Given the description of an element on the screen output the (x, y) to click on. 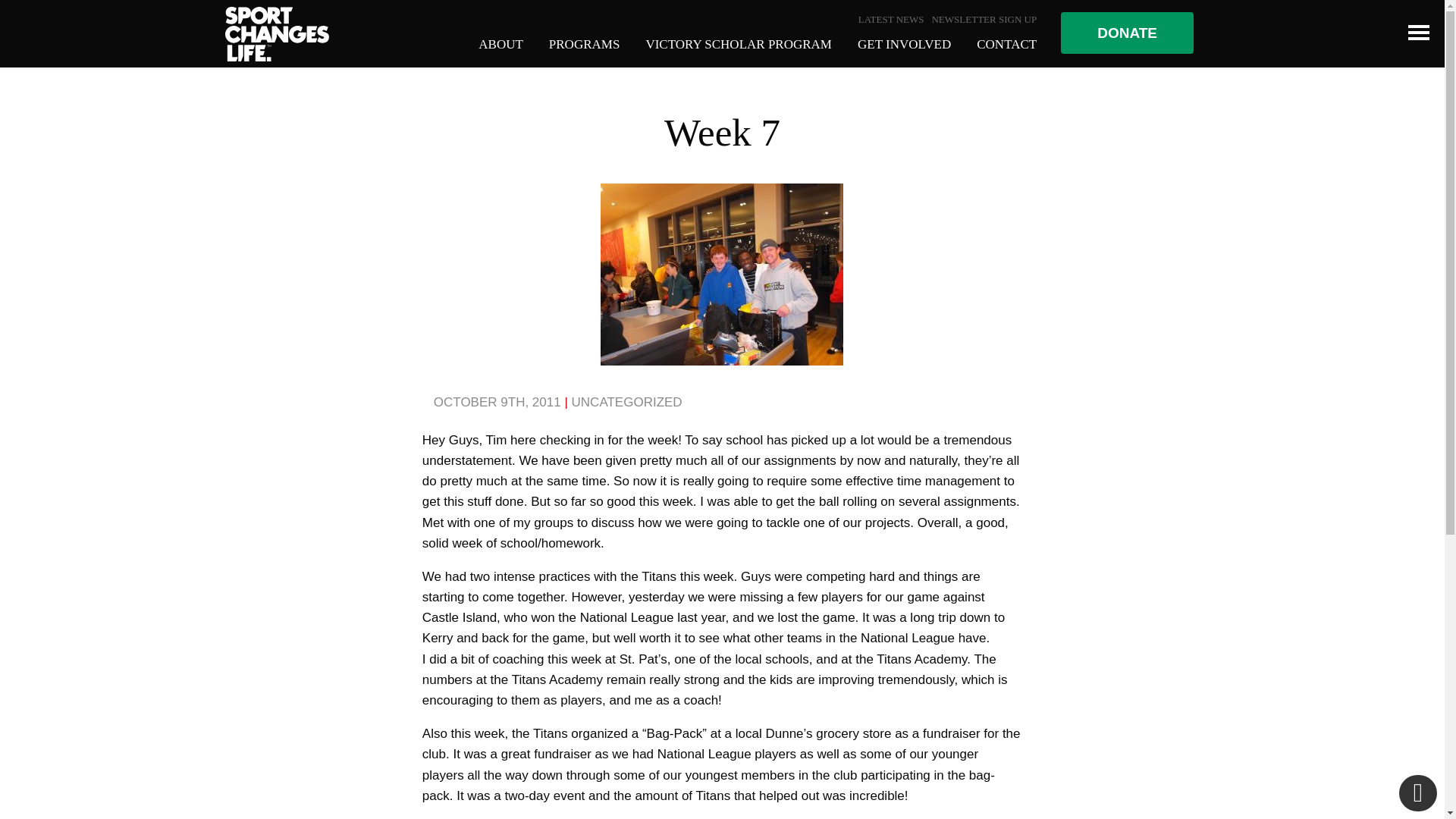
NEWSLETTER SIGN UP (984, 18)
CONTACT (1006, 43)
DONATE (1127, 33)
PROGRAMS (584, 43)
ABOUT (500, 43)
GET INVOLVED (903, 43)
LATEST NEWS (891, 18)
VICTORY SCHOLAR PROGRAM (737, 43)
